Given the description of an element on the screen output the (x, y) to click on. 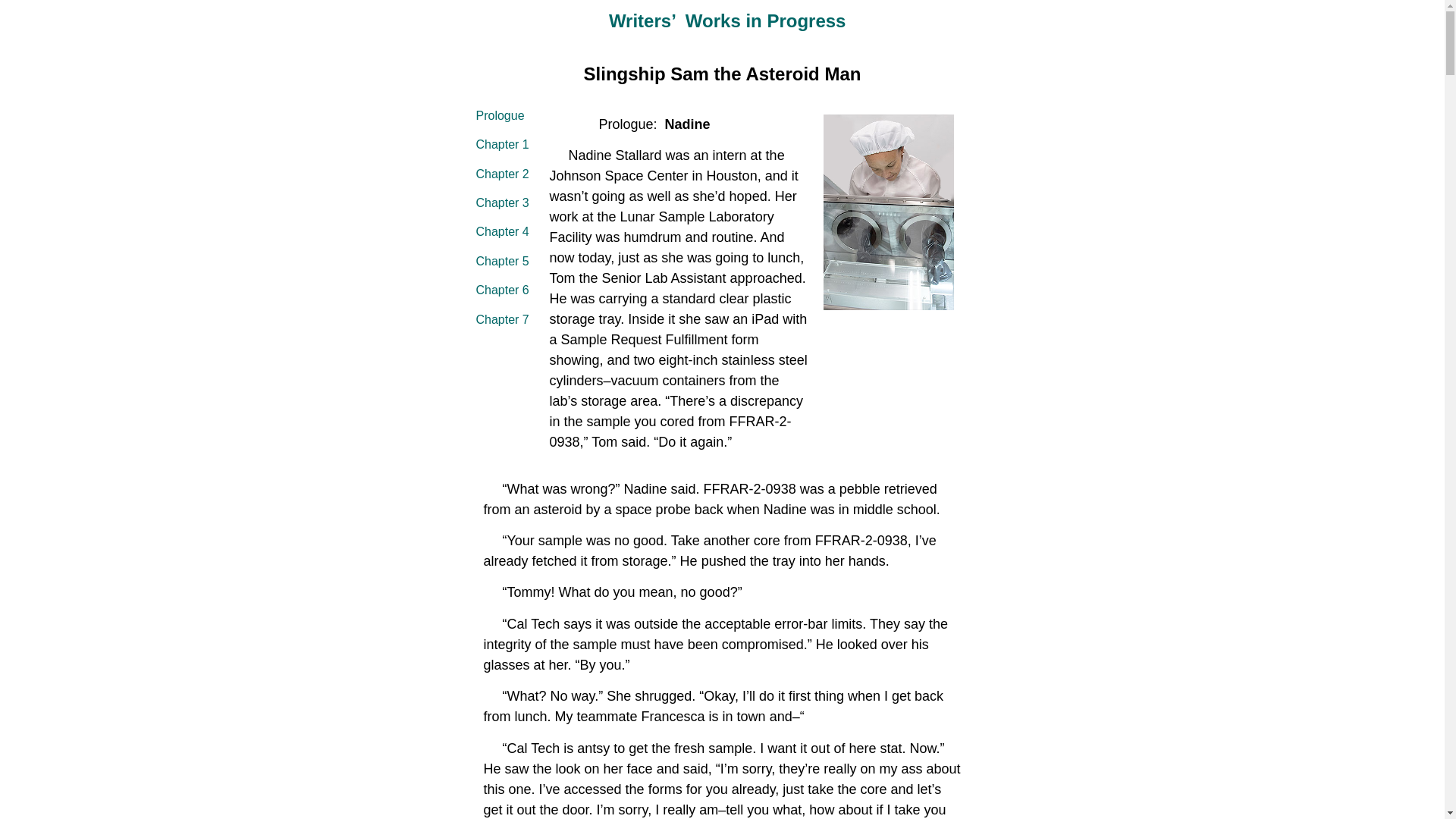
Chapter 2 (502, 173)
Chapter 1 (502, 144)
Chapter 4 (502, 231)
Chapter 3 (502, 202)
Chapter 7 (502, 318)
Chapter 5 (502, 260)
Prologue (500, 115)
Chapter 6 (502, 289)
